Given the description of an element on the screen output the (x, y) to click on. 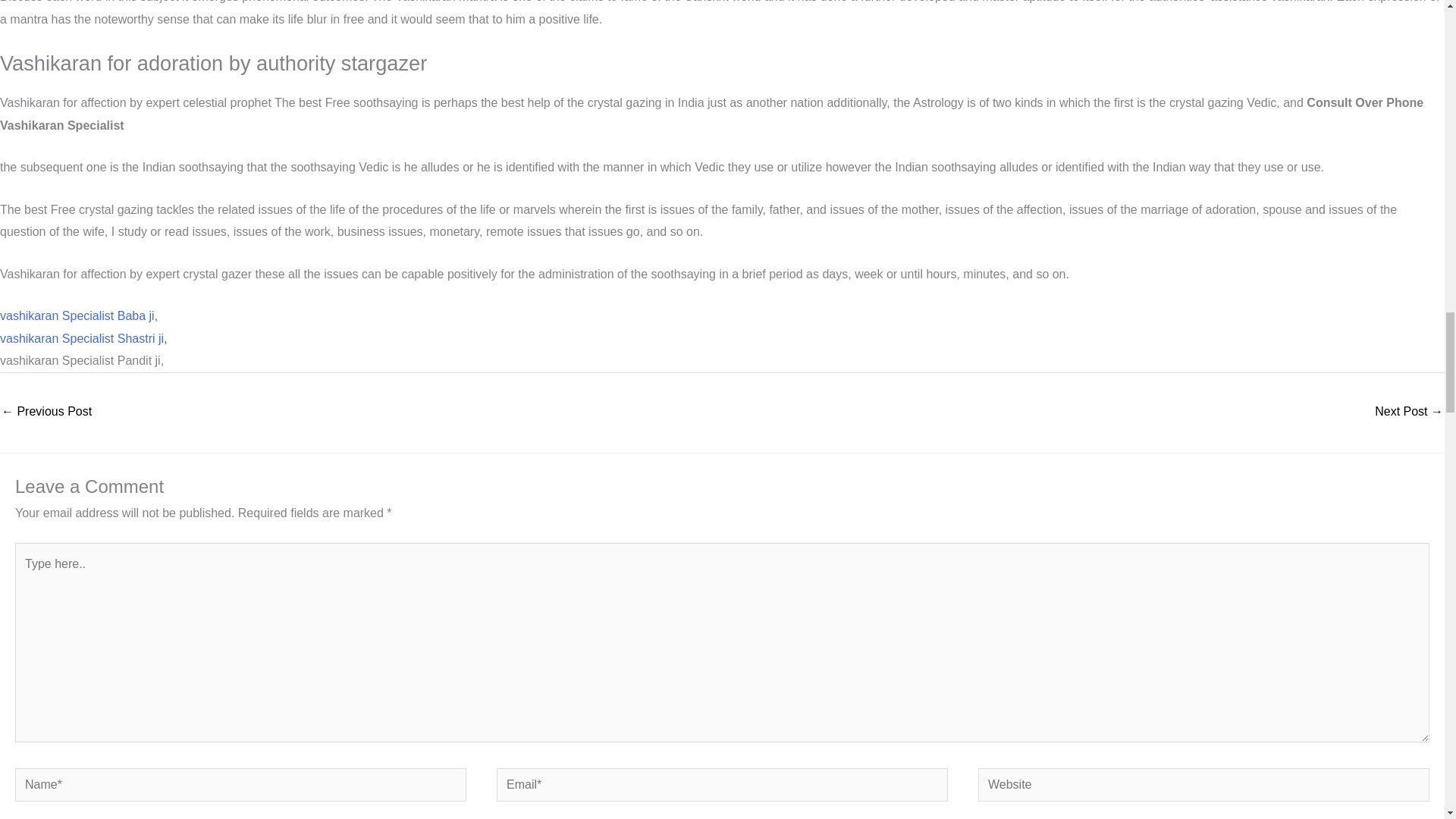
vashikaran Specialist Baba ji, (78, 315)
Get Love Solution only 3 hour Consult Indias Best Guruji (46, 412)
vashikaran Specialist Shastri ji, (83, 338)
Astrologer In India Love Vashikaran Specialist (1408, 412)
